Given the description of an element on the screen output the (x, y) to click on. 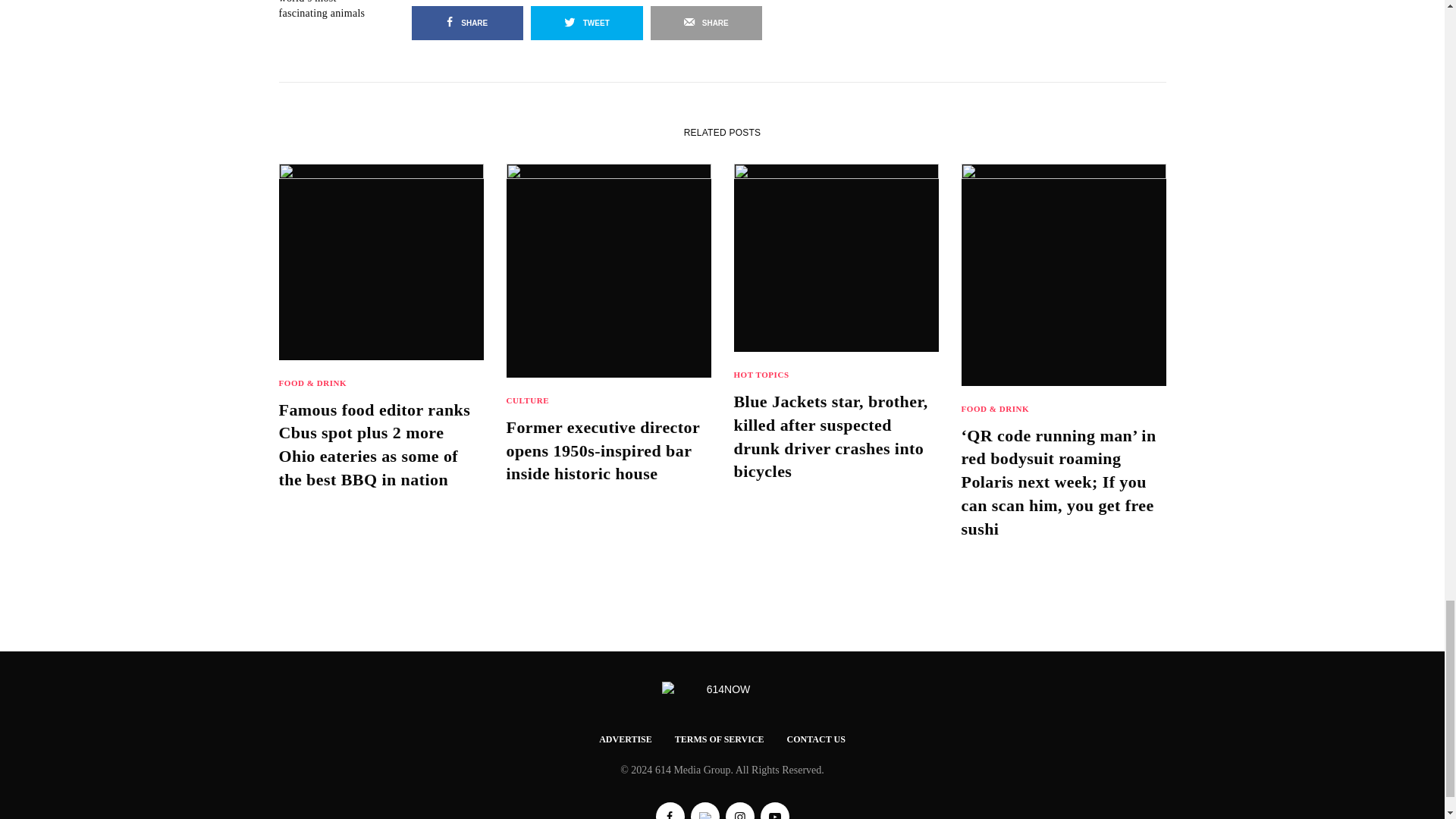
614NOW (722, 689)
